Given the description of an element on the screen output the (x, y) to click on. 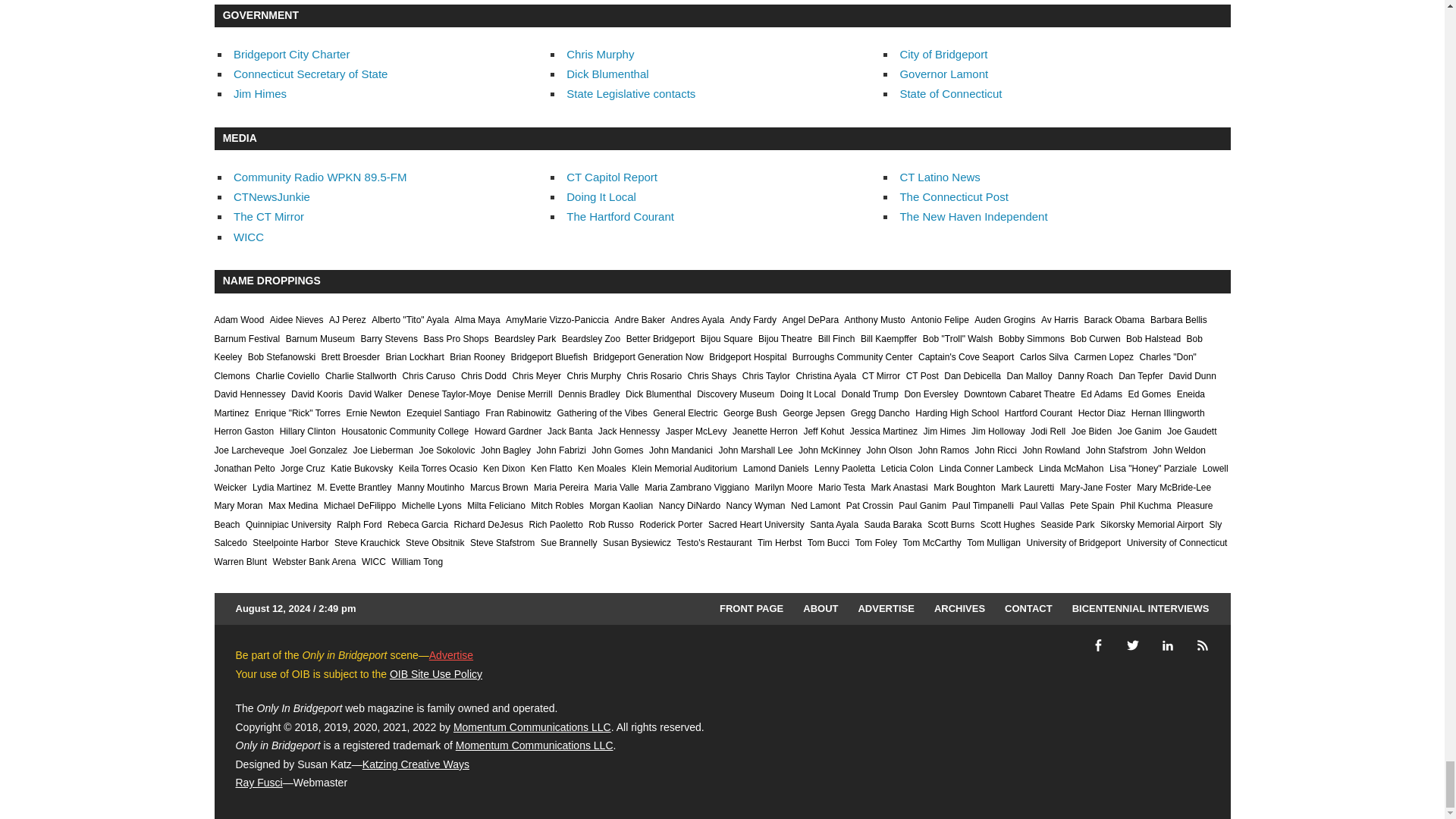
Because you need it. Bad. (271, 196)
Contact your State Legislators (630, 92)
State of Connecticut (950, 92)
CT Capitol Report (612, 176)
The Hartford Courant (620, 215)
The official Bridgeport website (943, 53)
The New Haven Independent (972, 215)
Secretary of the State (309, 73)
The Connecticut Post Online (953, 196)
